Given the description of an element on the screen output the (x, y) to click on. 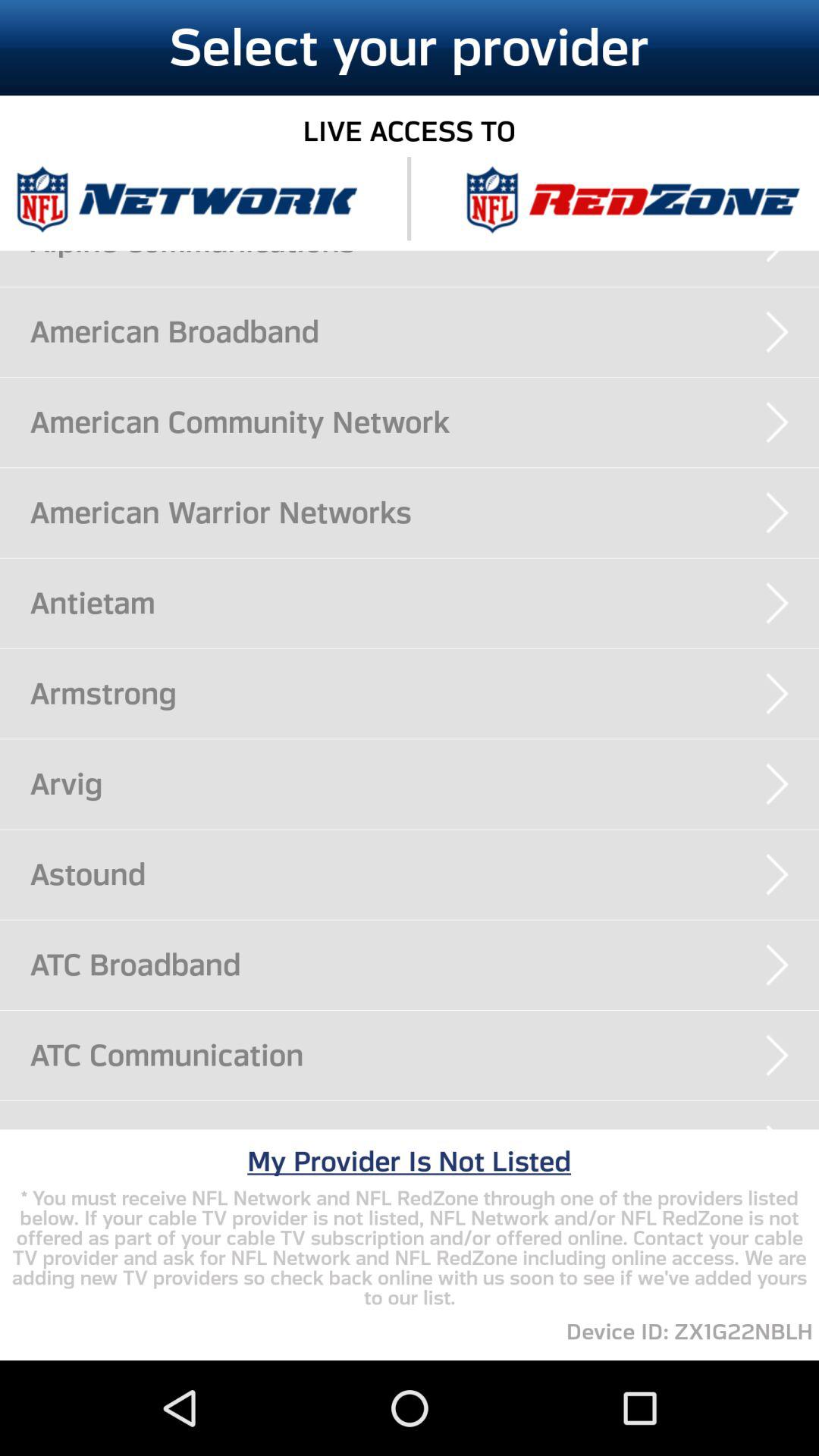
select the american warrior networks app (424, 512)
